Given the description of an element on the screen output the (x, y) to click on. 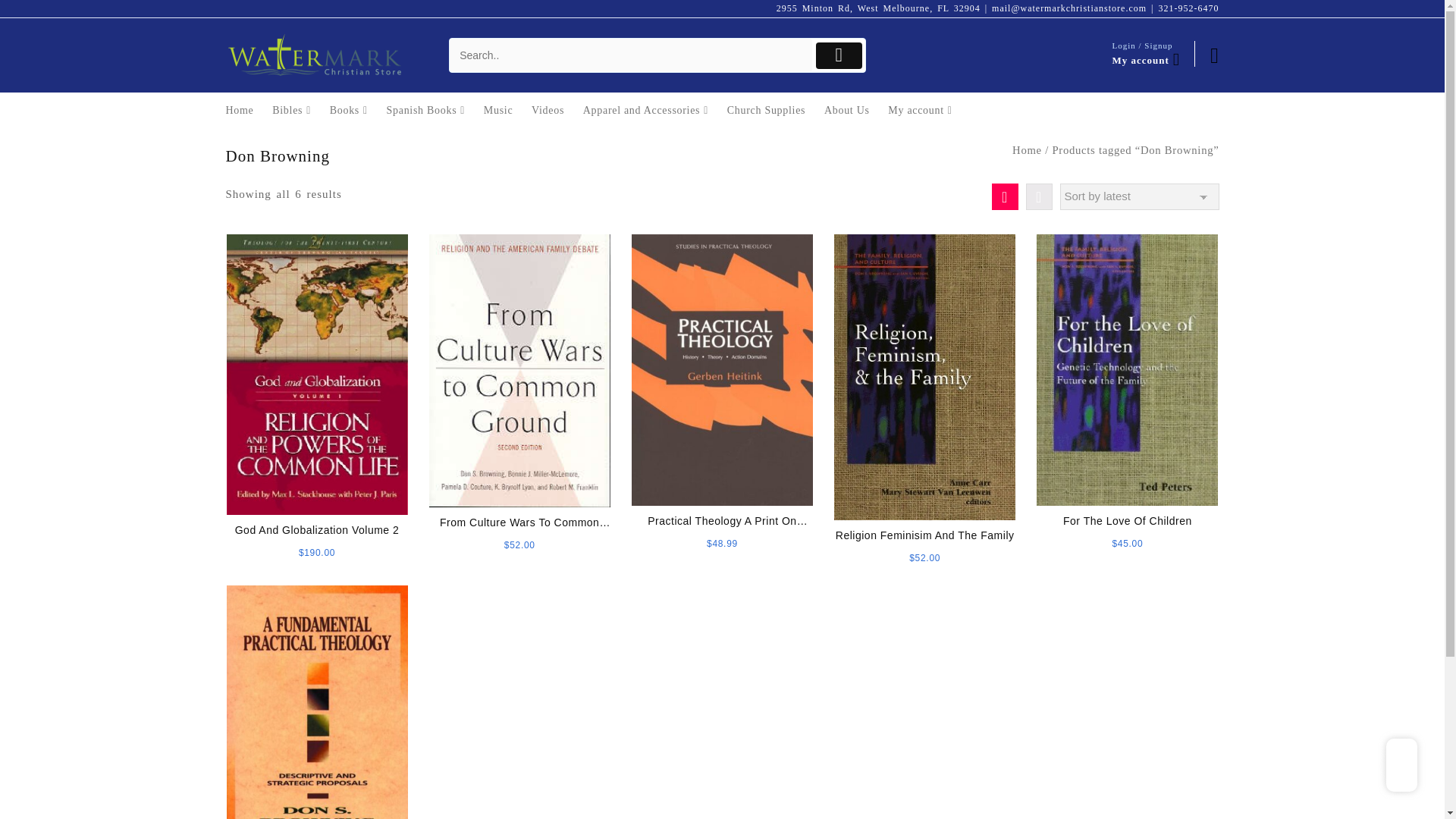
321-952-6470 (1189, 8)
Submit (838, 55)
List View (1038, 196)
Grid View (1004, 196)
2955 Minton Rd, West Melbourne, FL 32904 (877, 8)
Search (630, 55)
